Given the description of an element on the screen output the (x, y) to click on. 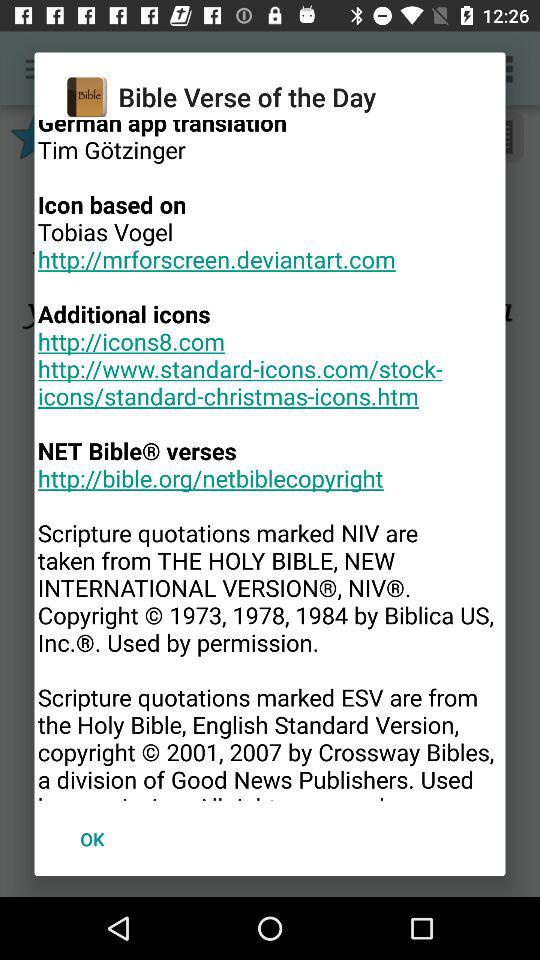
select the version 10 85 icon (269, 460)
